Given the description of an element on the screen output the (x, y) to click on. 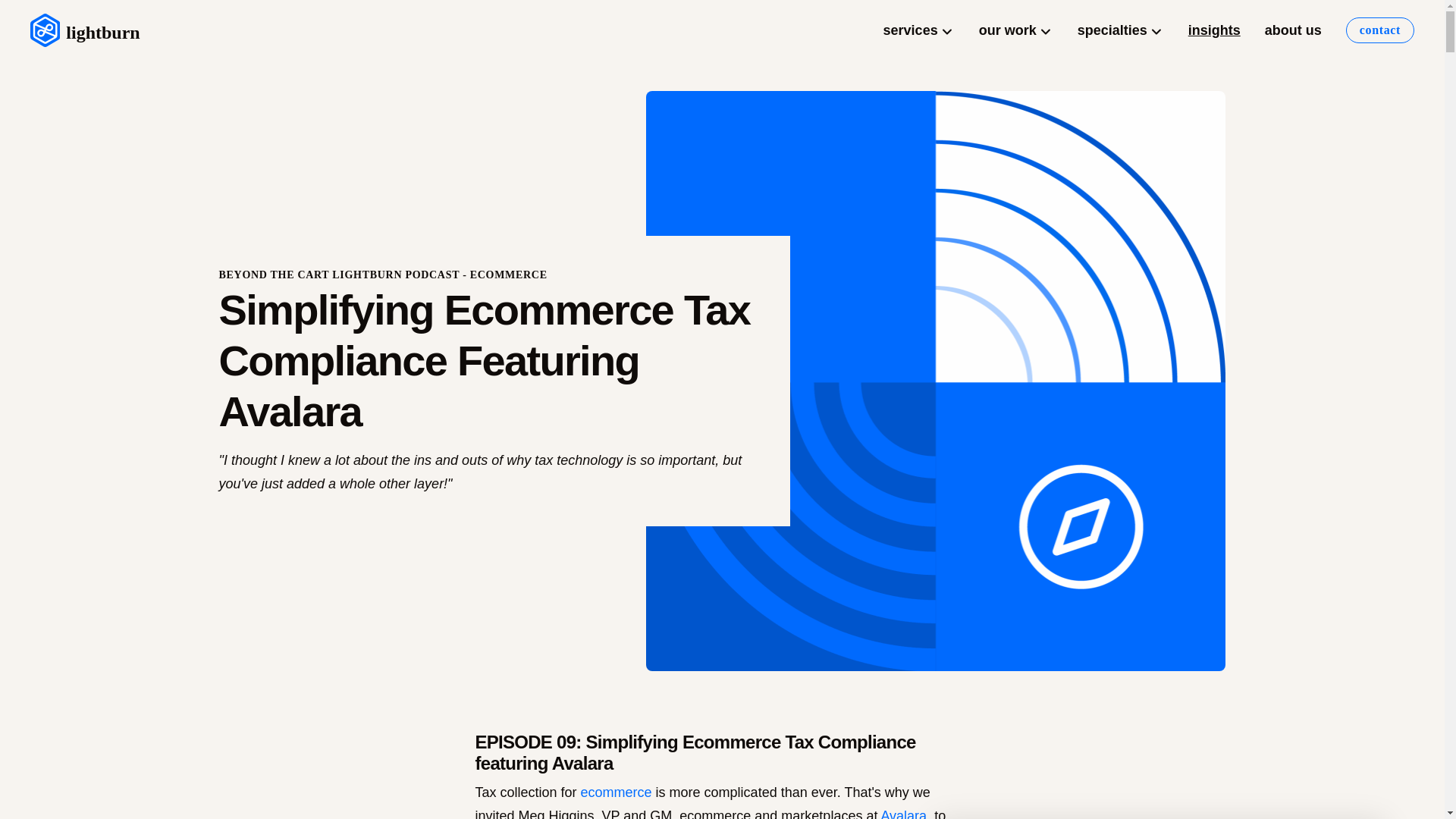
lightburn (84, 30)
services (918, 30)
insights (1214, 30)
our work (1015, 30)
specialties (1120, 30)
